Given the description of an element on the screen output the (x, y) to click on. 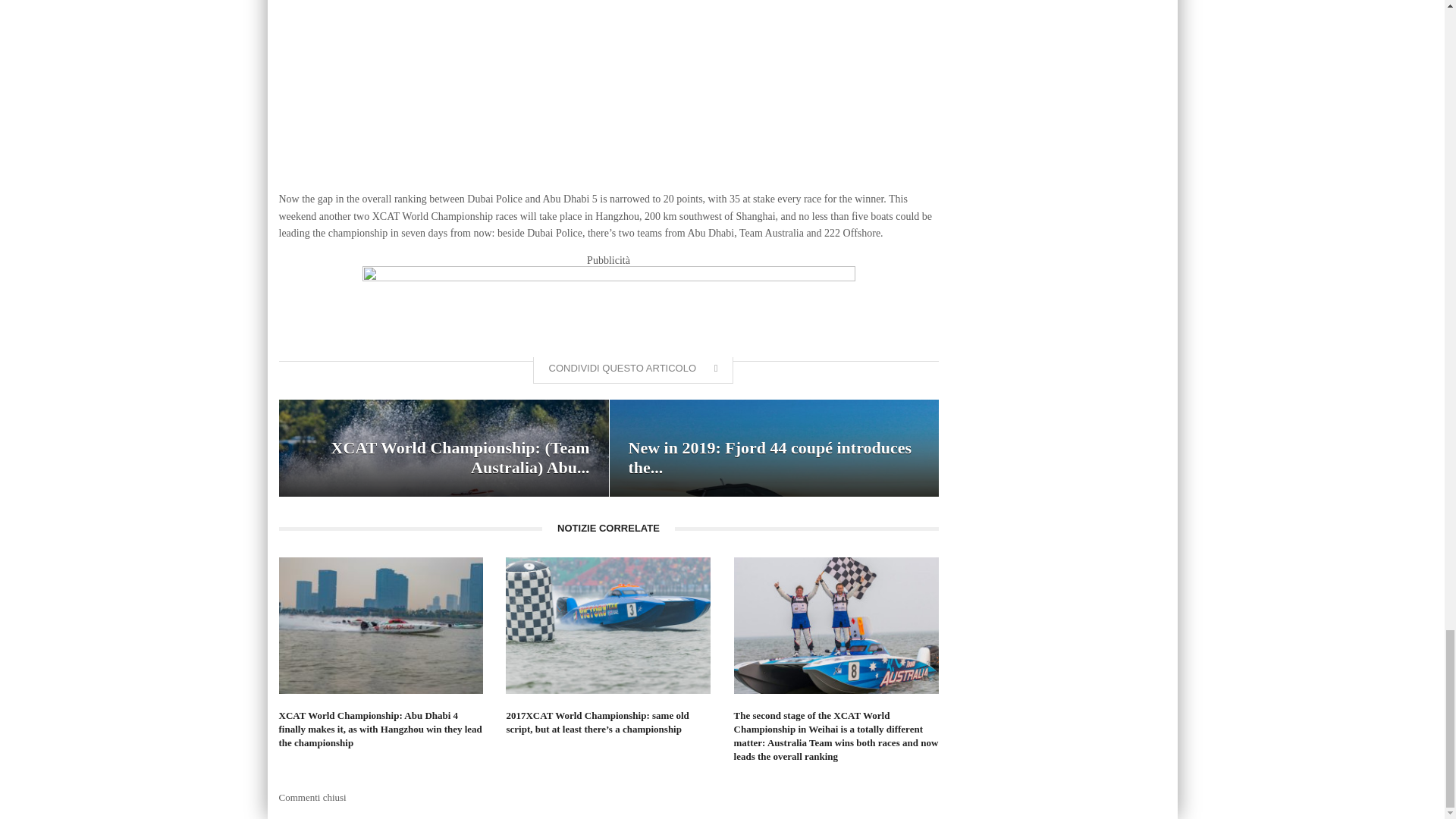
CONDIVIDI QUESTO ARTICOLO (632, 370)
